Given the description of an element on the screen output the (x, y) to click on. 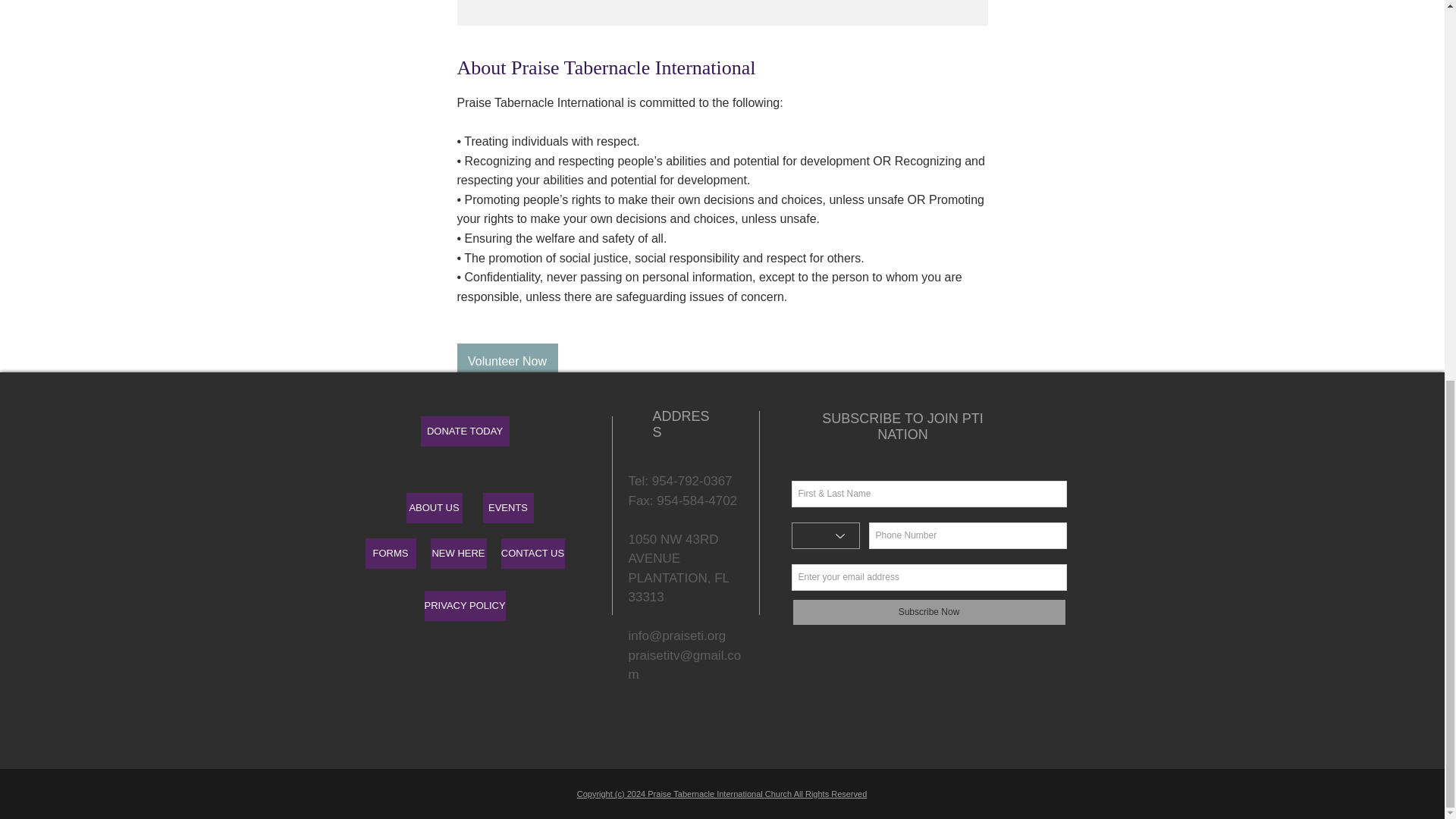
DONATE TODAY (464, 431)
PRIVACY POLICY (465, 605)
NEW HERE (458, 553)
Subscribe Now (929, 612)
EVENTS (506, 508)
CONTACT US (532, 553)
ABOUT US (434, 508)
Volunteer Now (507, 361)
FORMS (390, 553)
